Given the description of an element on the screen output the (x, y) to click on. 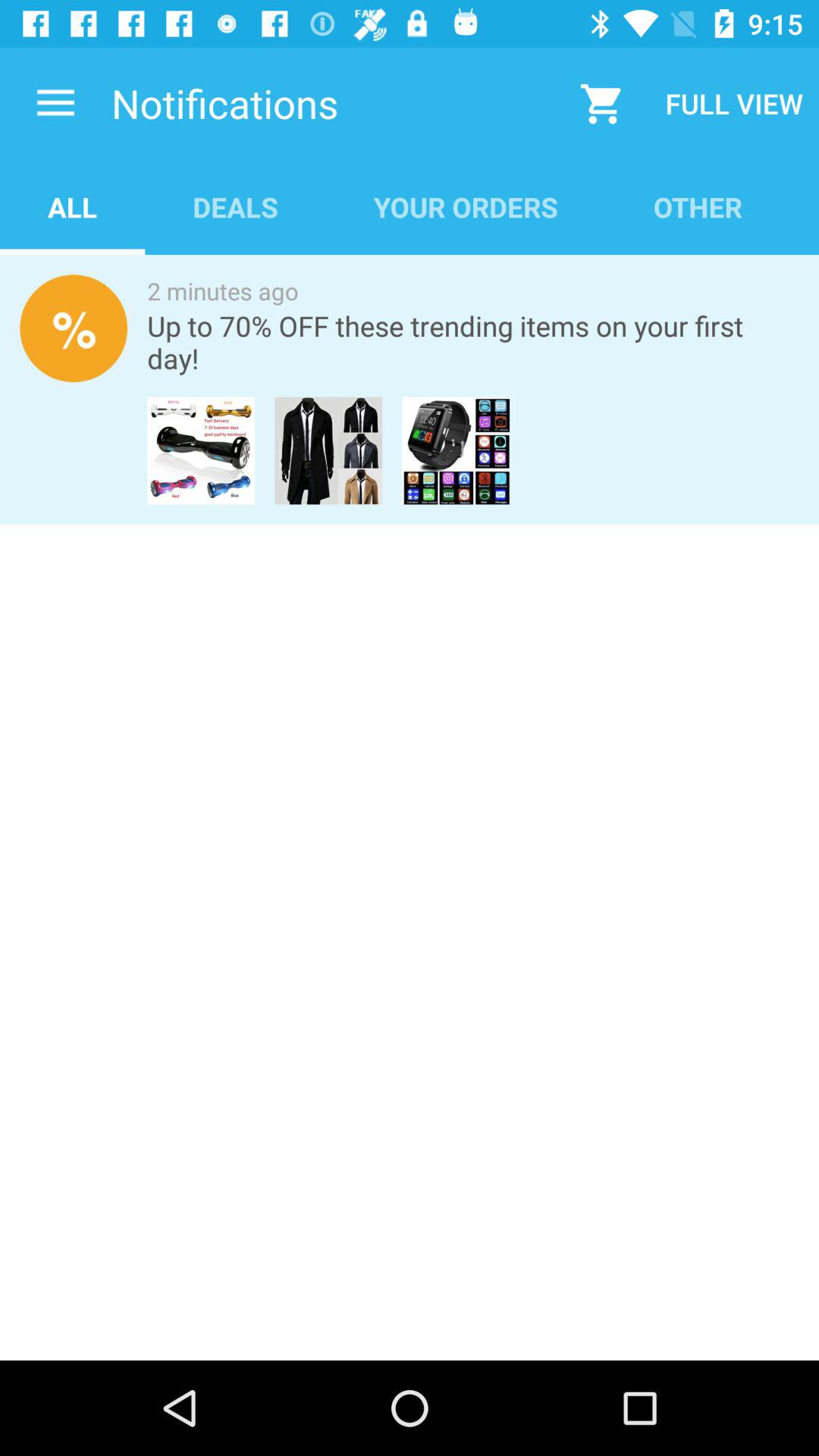
scroll to full view item (734, 103)
